Given the description of an element on the screen output the (x, y) to click on. 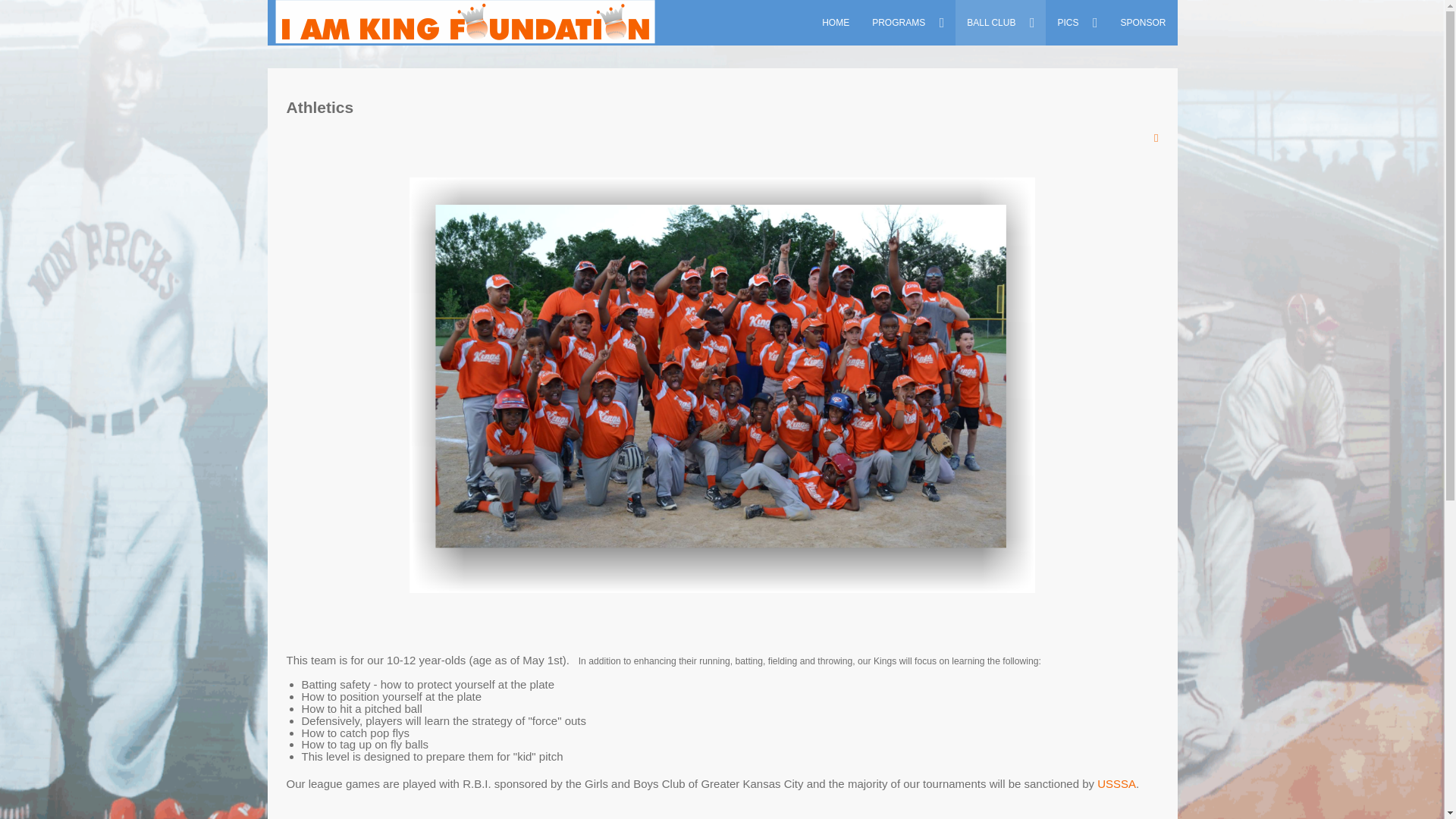
HOME (835, 22)
BALL CLUB (1000, 22)
PROGRAMS (907, 22)
PICS (1076, 22)
